Given the description of an element on the screen output the (x, y) to click on. 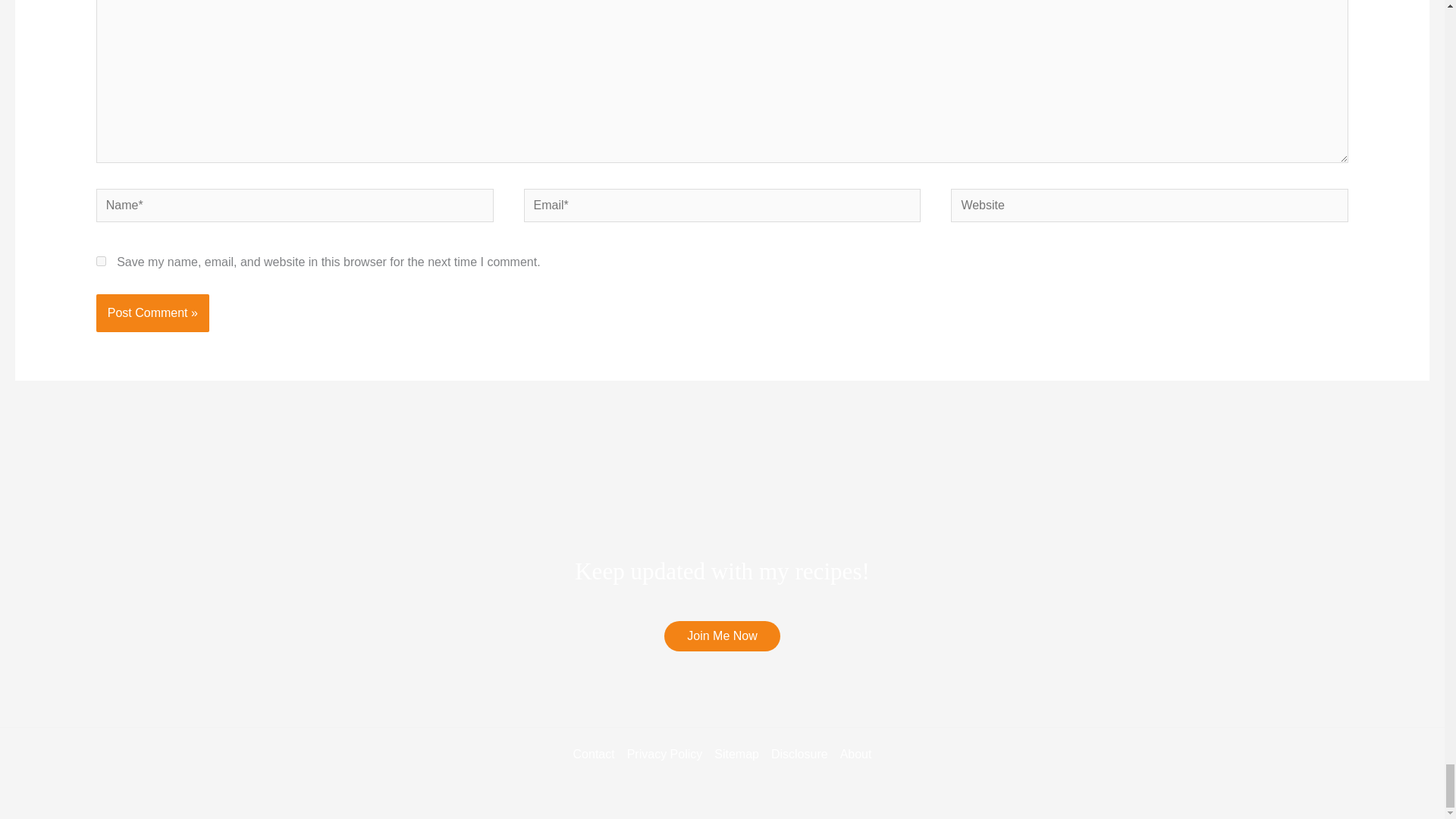
yes (101, 261)
